Given the description of an element on the screen output the (x, y) to click on. 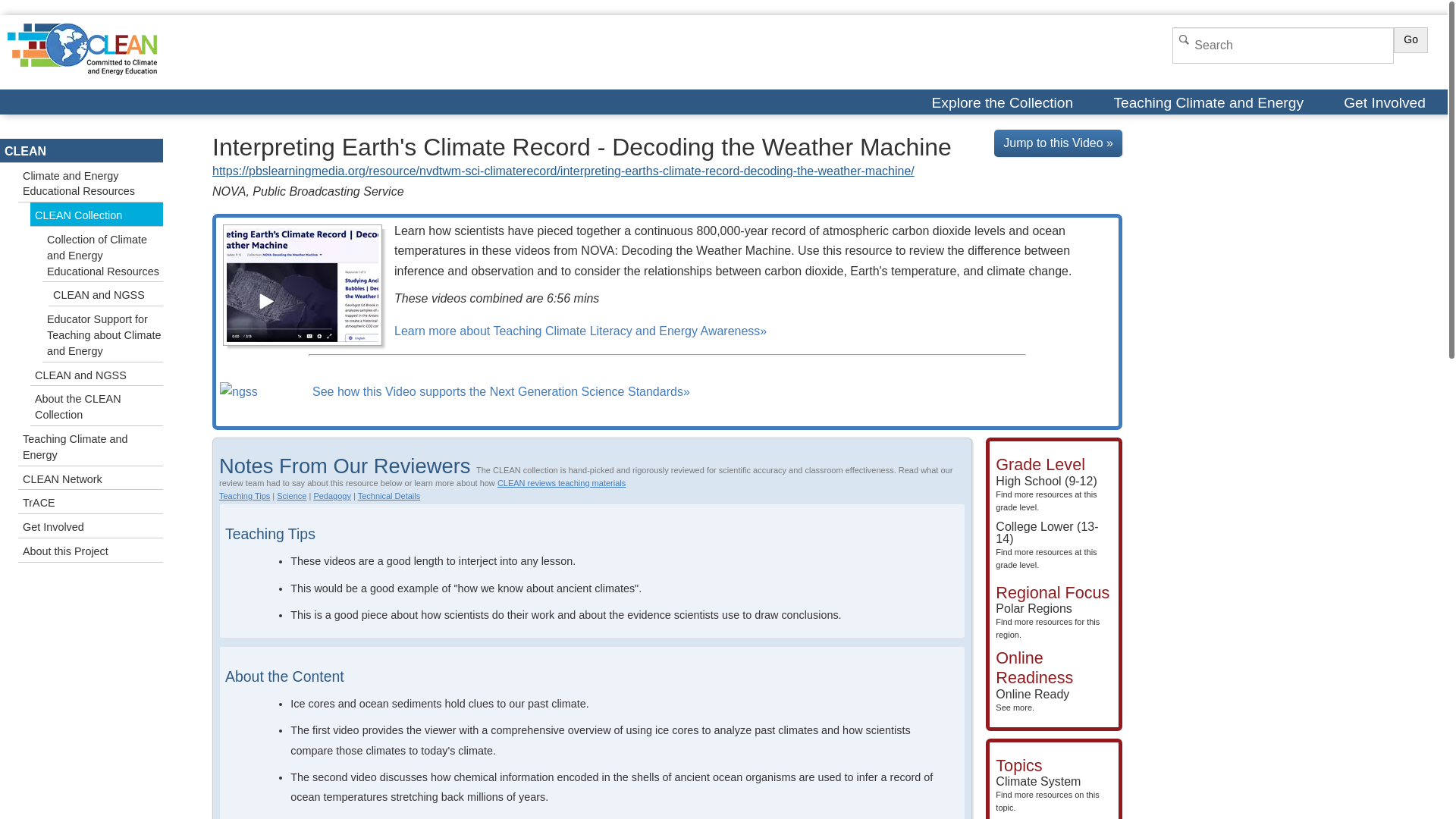
Teaching Climate and Energy (1210, 101)
Teaching Tips (1047, 620)
Get Involved (244, 495)
Pedagogy (1385, 101)
CLEAN reviews teaching materials (1031, 699)
Go (331, 495)
Explore the Collection (561, 482)
Science (1410, 40)
